Given the description of an element on the screen output the (x, y) to click on. 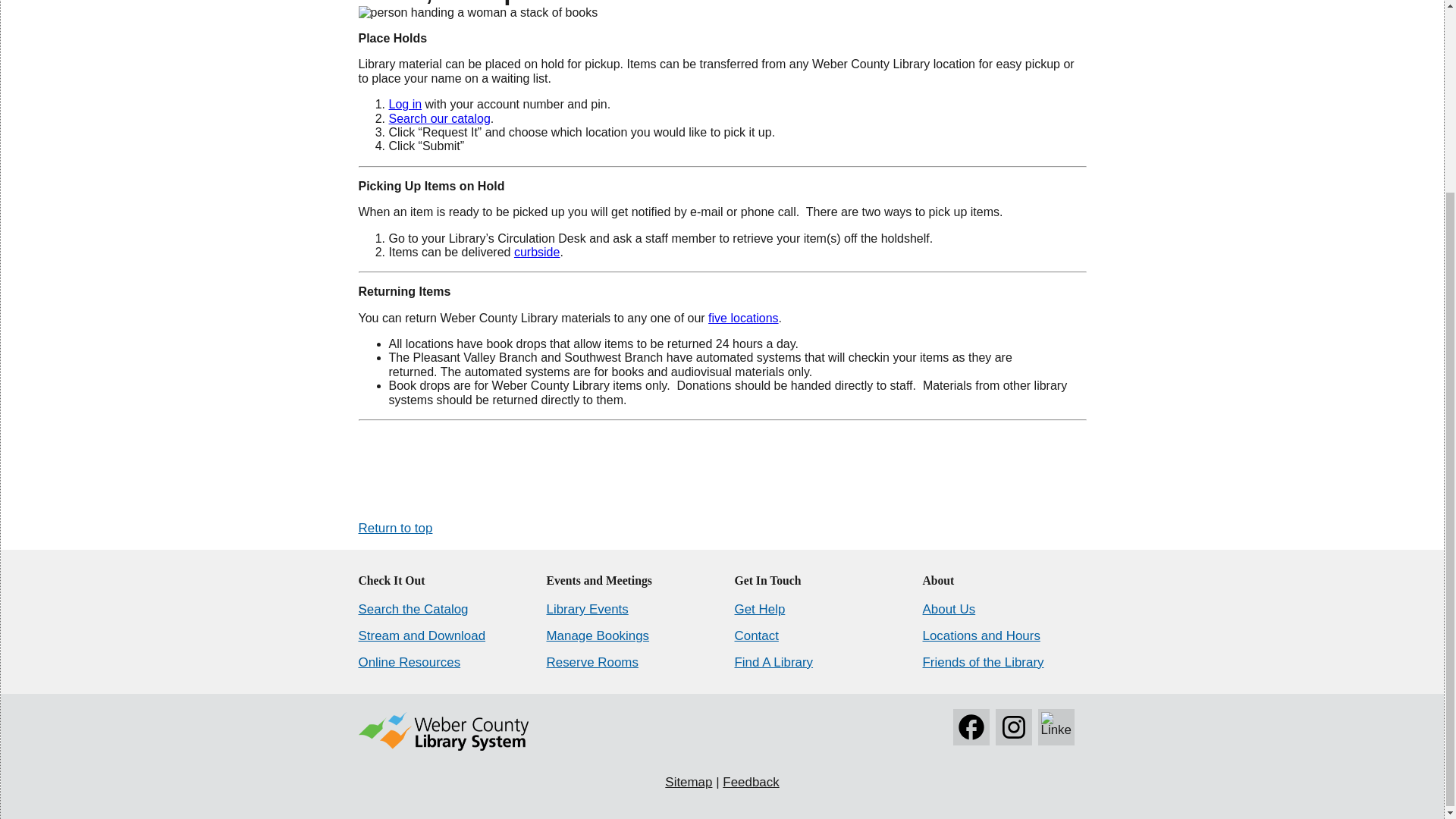
Locations and Hours (980, 635)
Contact (755, 635)
Library Events (586, 608)
Log in (405, 103)
Get Help (758, 608)
List of premium databases (409, 662)
Search the library catalog (412, 608)
five locations (742, 318)
Search our catalog (438, 118)
Hoopla, Kanopy, Libby and others (421, 635)
